Given the description of an element on the screen output the (x, y) to click on. 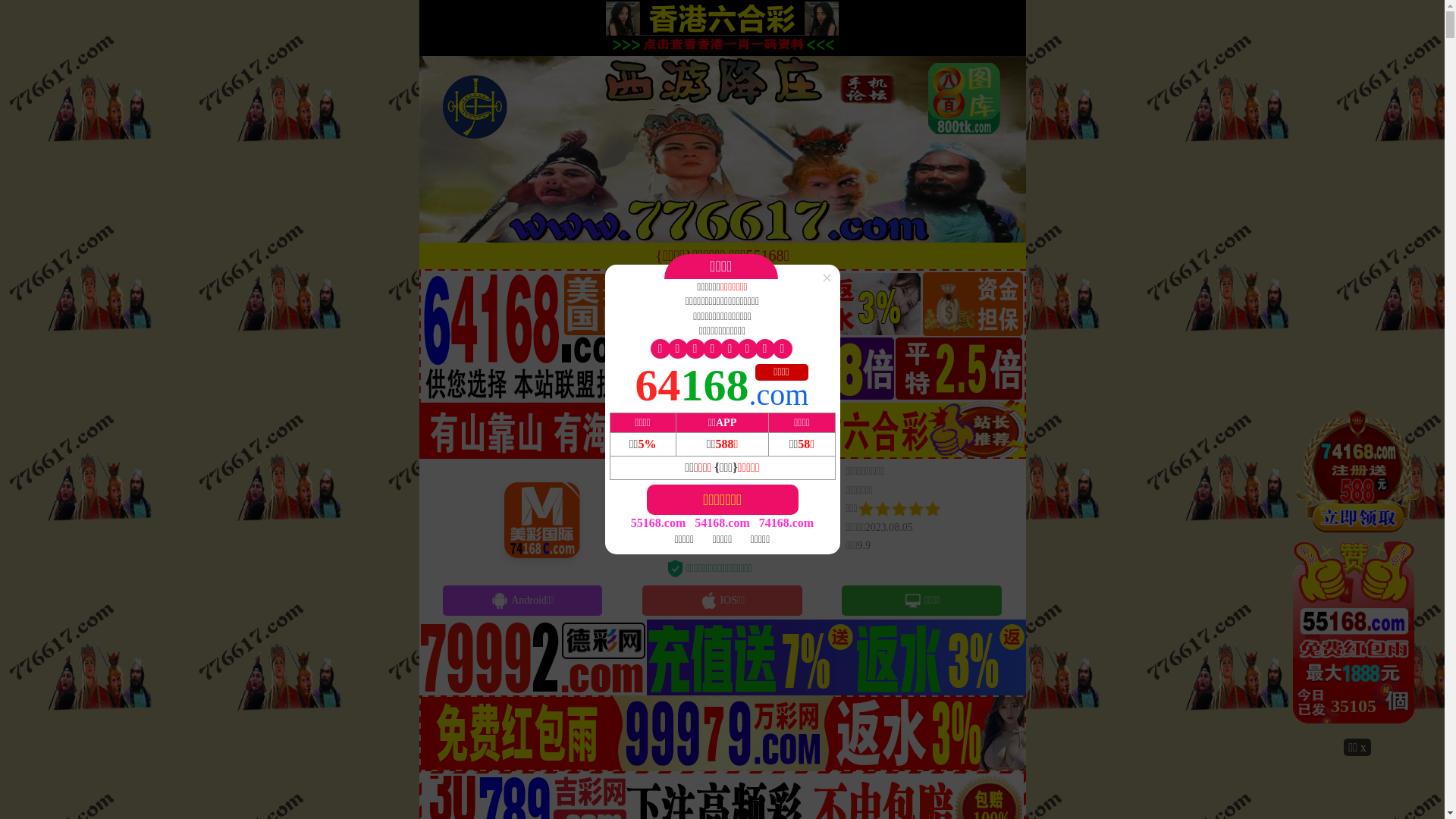
34901 Element type: text (1356, 570)
